Given the description of an element on the screen output the (x, y) to click on. 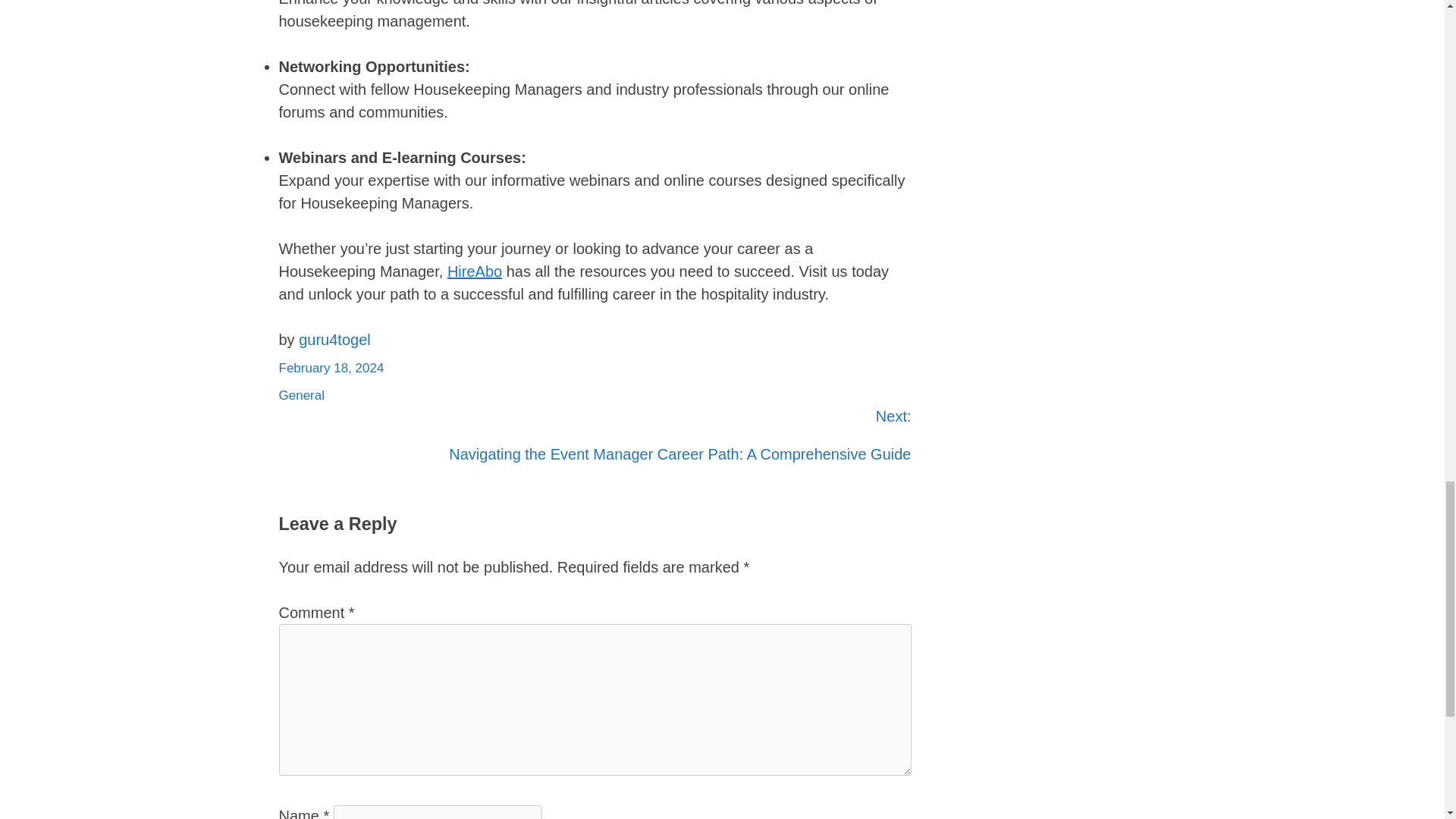
General (301, 395)
February 18, 2024 (331, 368)
HireAbo (474, 271)
guru4togel (334, 339)
